Given the description of an element on the screen output the (x, y) to click on. 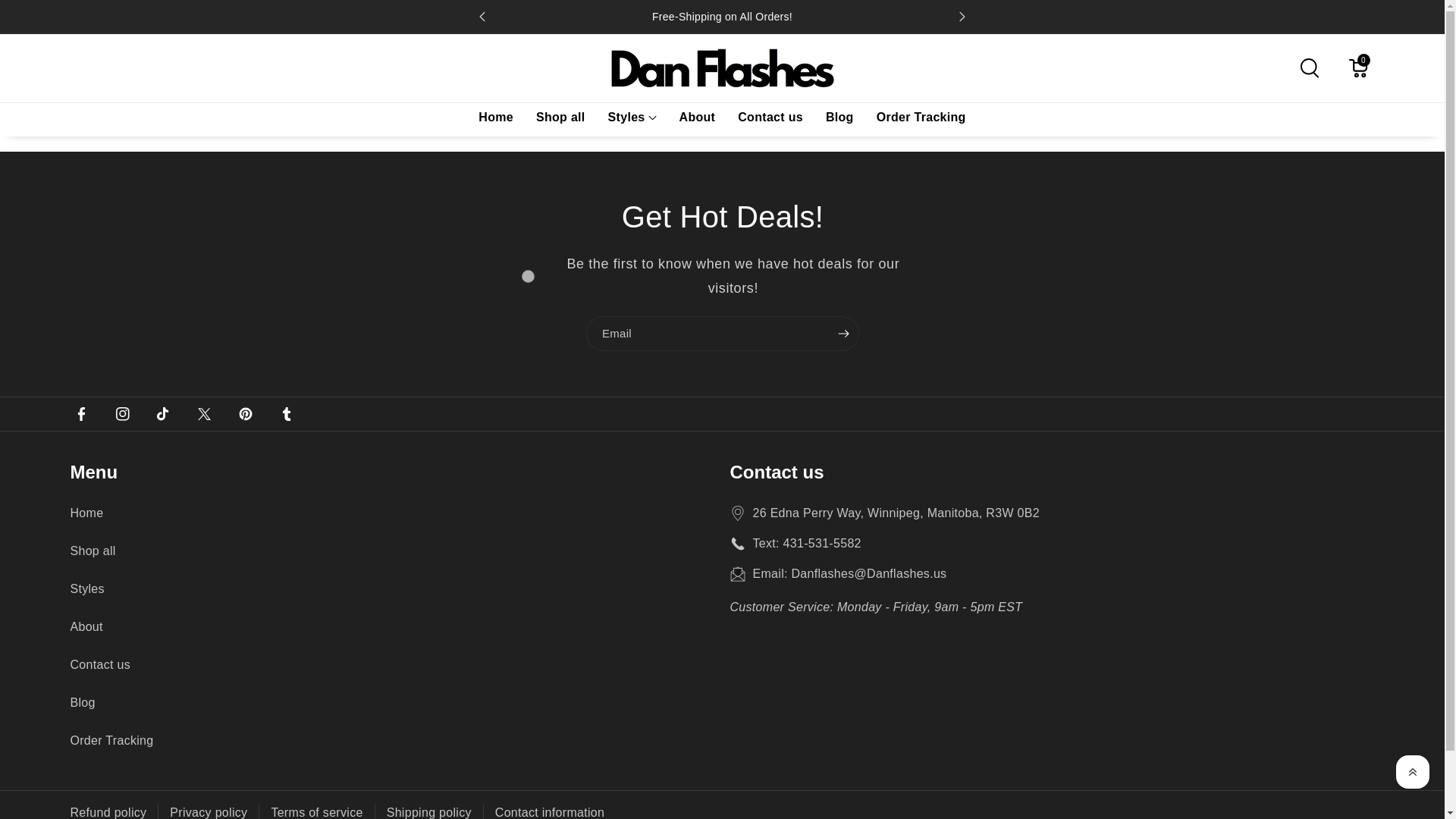
Skip To Content (45, 16)
Scroll to top (1412, 771)
